Given the description of an element on the screen output the (x, y) to click on. 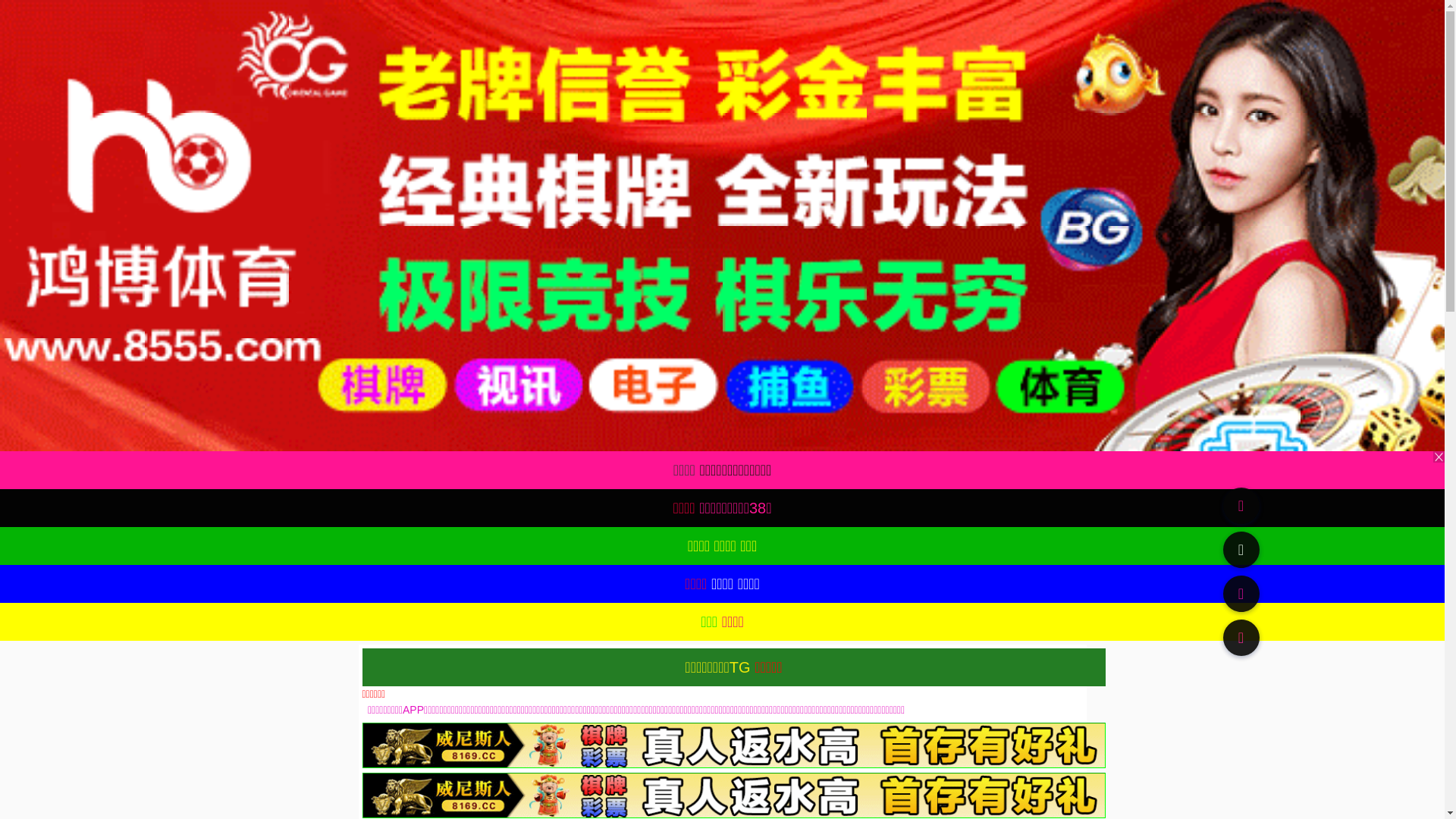
91TV Element type: hover (1240, 593)
